Given the description of an element on the screen output the (x, y) to click on. 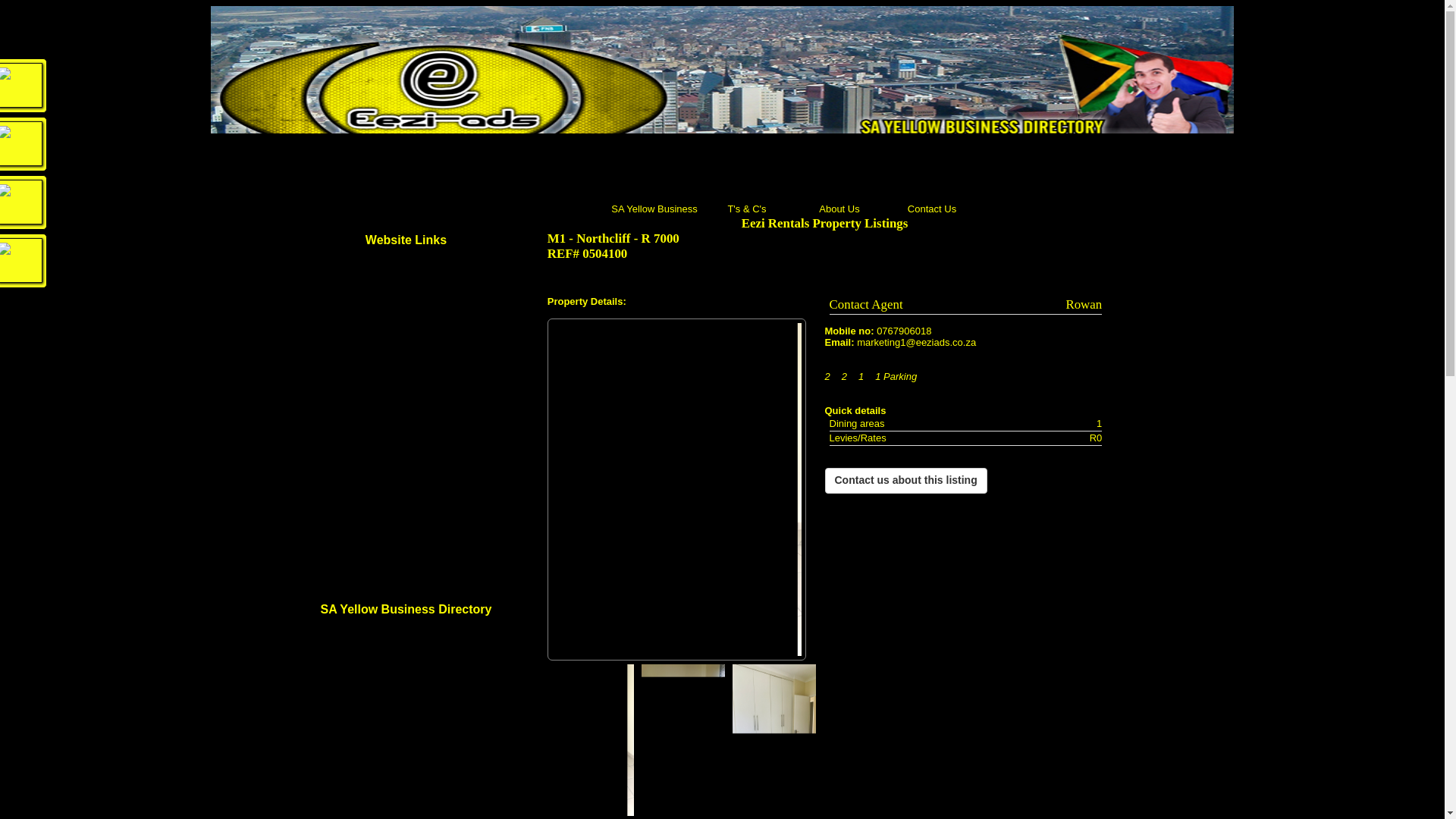
Contact Us (932, 209)
About Us (840, 209)
Contact us about this listing (906, 480)
SA Yellow Business Directory (655, 209)
